Given the description of an element on the screen output the (x, y) to click on. 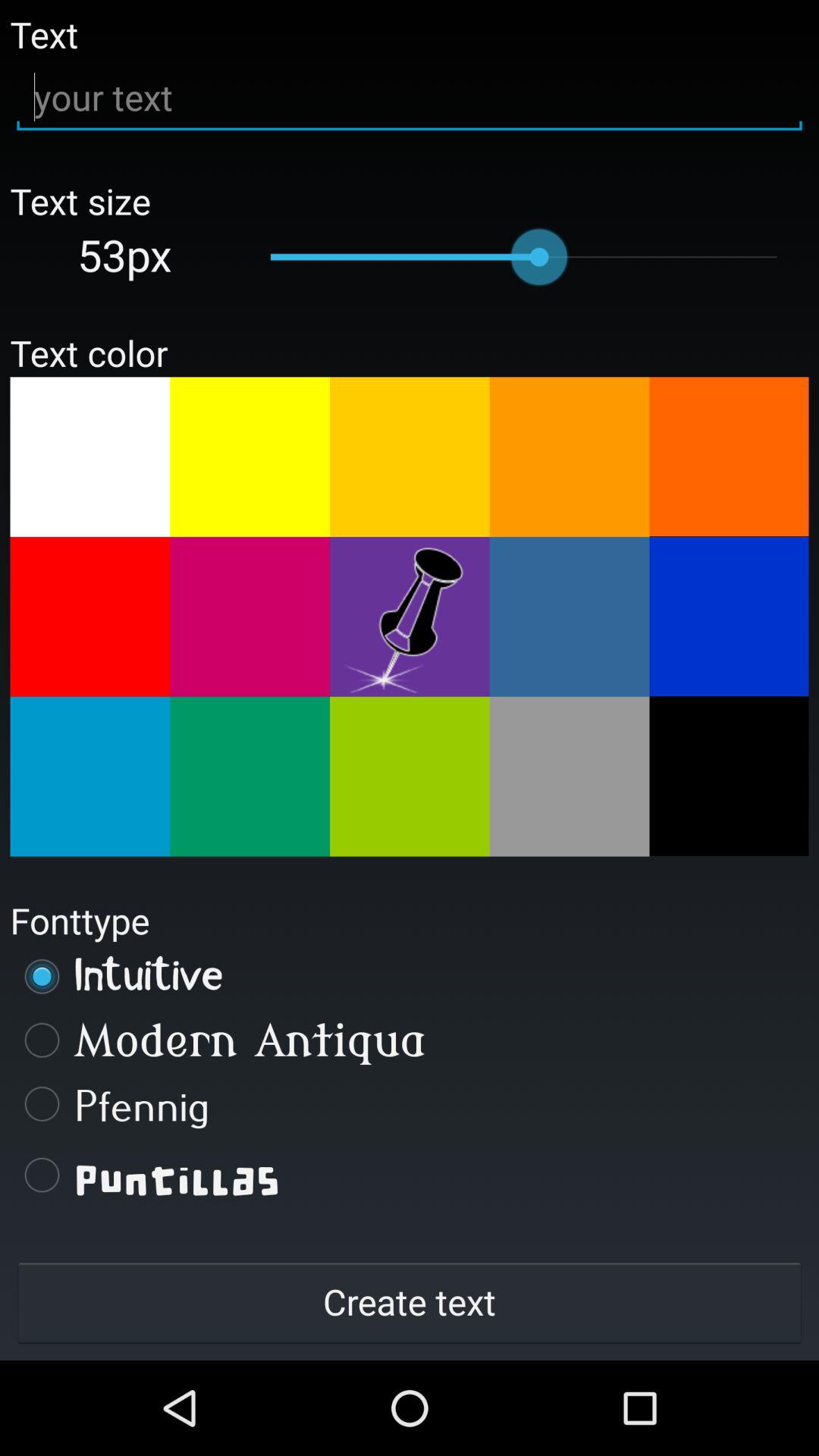
click for color red (90, 616)
